Given the description of an element on the screen output the (x, y) to click on. 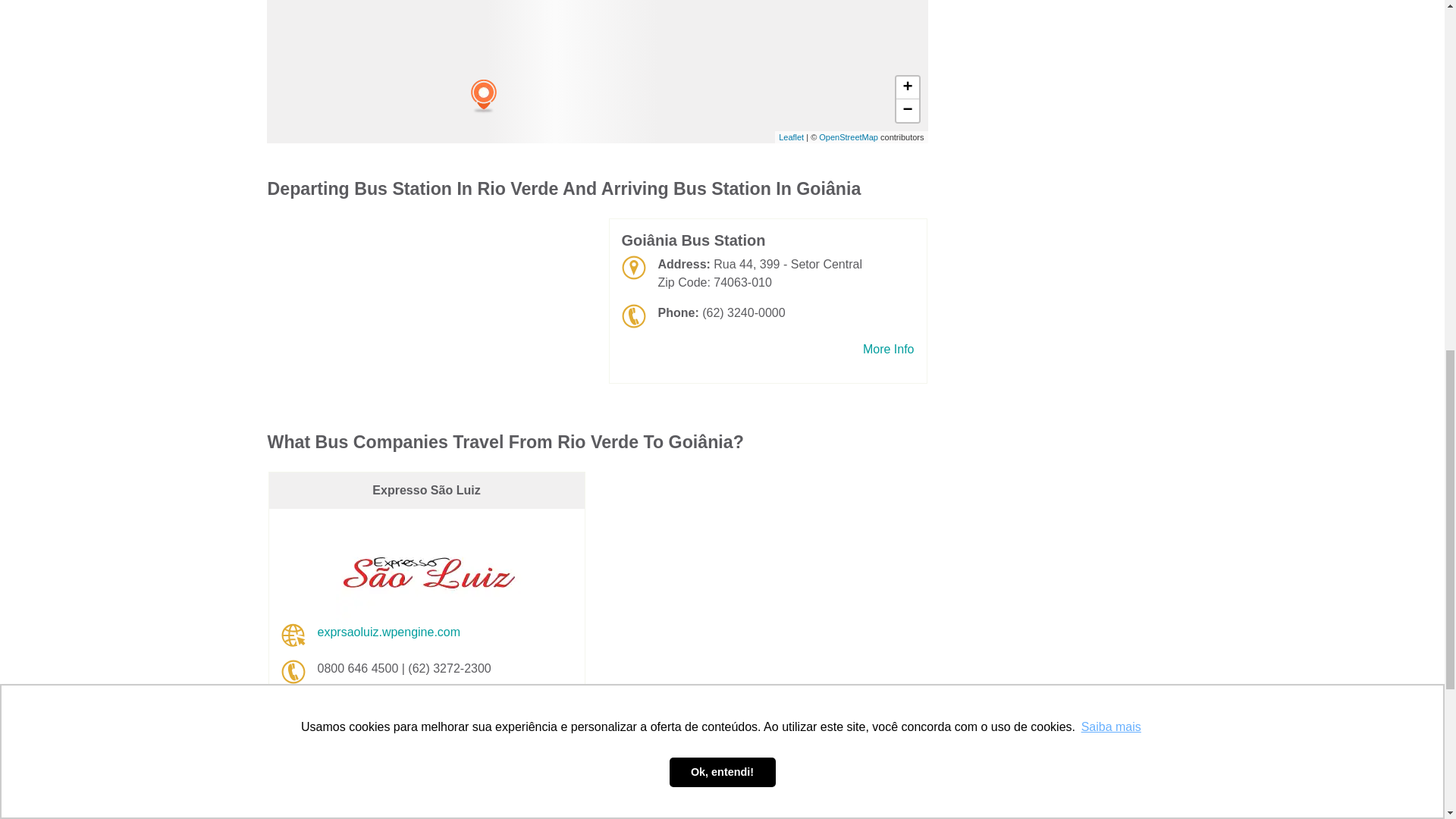
More Info (888, 349)
Leaflet (790, 136)
Zoom in (907, 87)
OpenStreetMap (847, 136)
exprsaoluiz.wpengine.com (388, 632)
A JS library for interactive maps (790, 136)
Zoom out (907, 110)
